Given the description of an element on the screen output the (x, y) to click on. 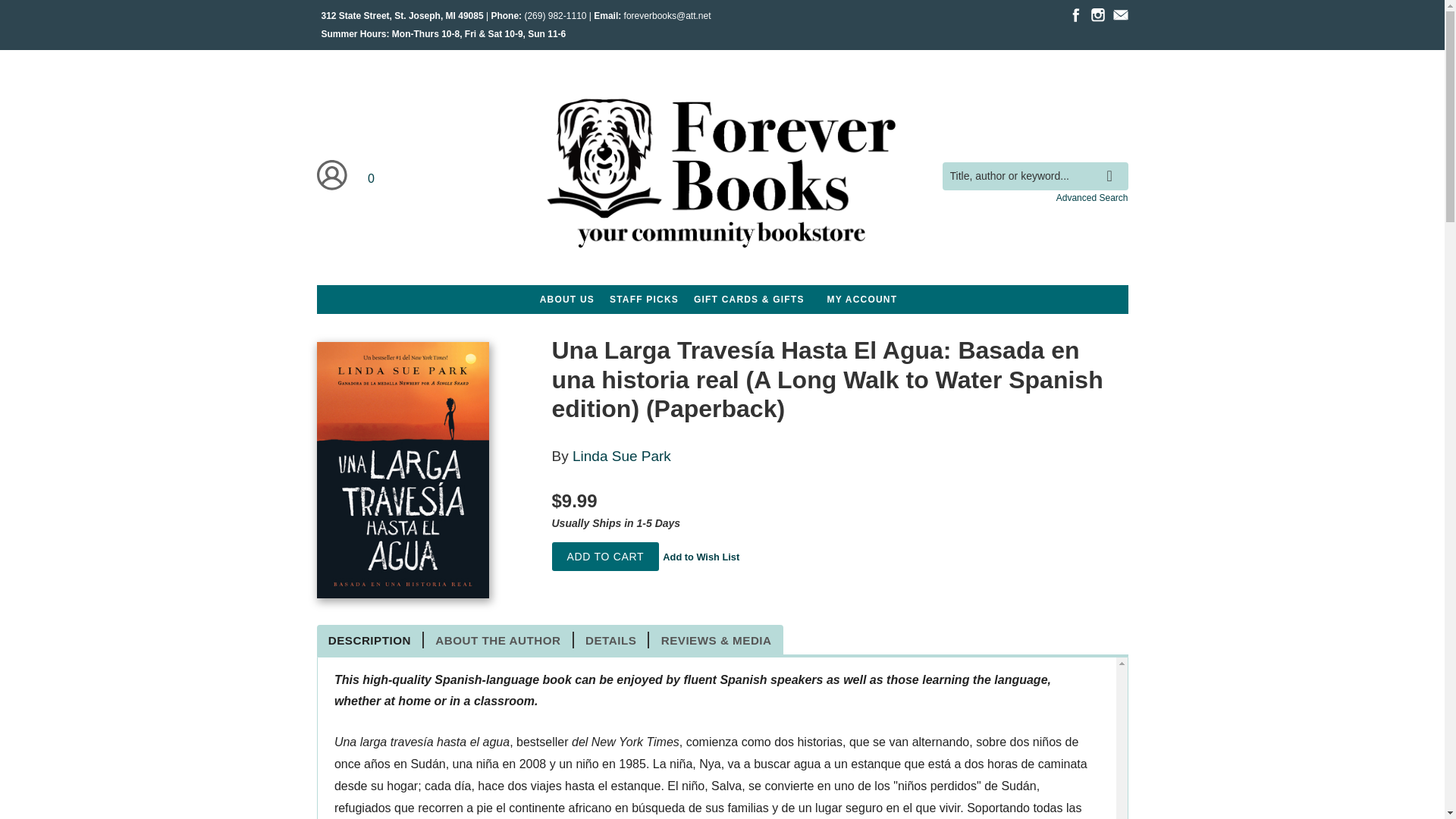
Add to Cart (605, 556)
Advanced Search (1092, 197)
STAFF PICKS (643, 299)
DETAILS (611, 639)
Title, author or keyword... (1034, 176)
MY ACCOUNT (862, 299)
search (1112, 164)
ABOUT US (567, 299)
search (1112, 164)
Linda Sue Park (621, 455)
DESCRIPTION (371, 639)
ABOUT THE AUTHOR (498, 639)
Home (721, 175)
Add to Wish List (700, 556)
